Given the description of an element on the screen output the (x, y) to click on. 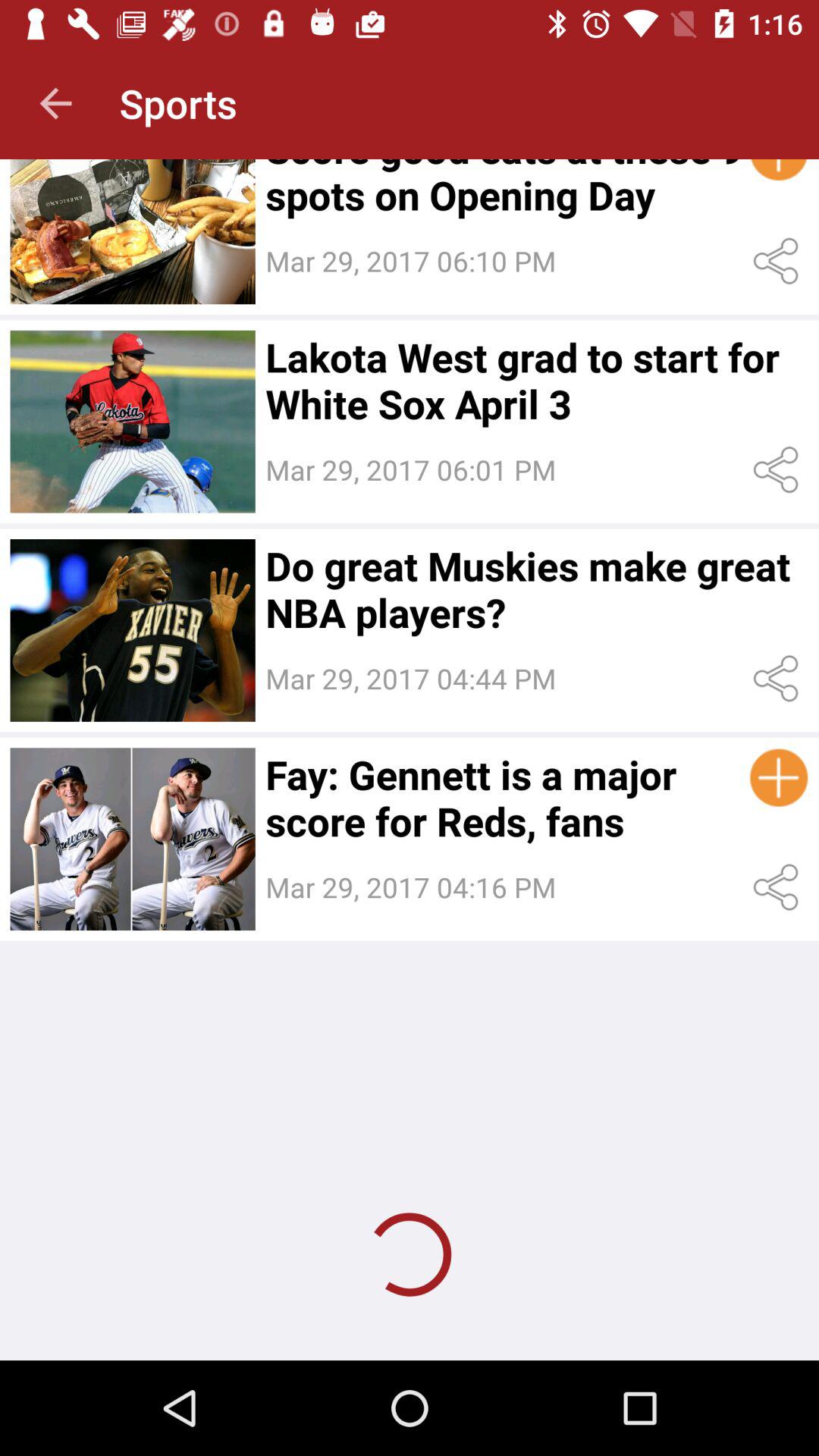
share (778, 469)
